Given the description of an element on the screen output the (x, y) to click on. 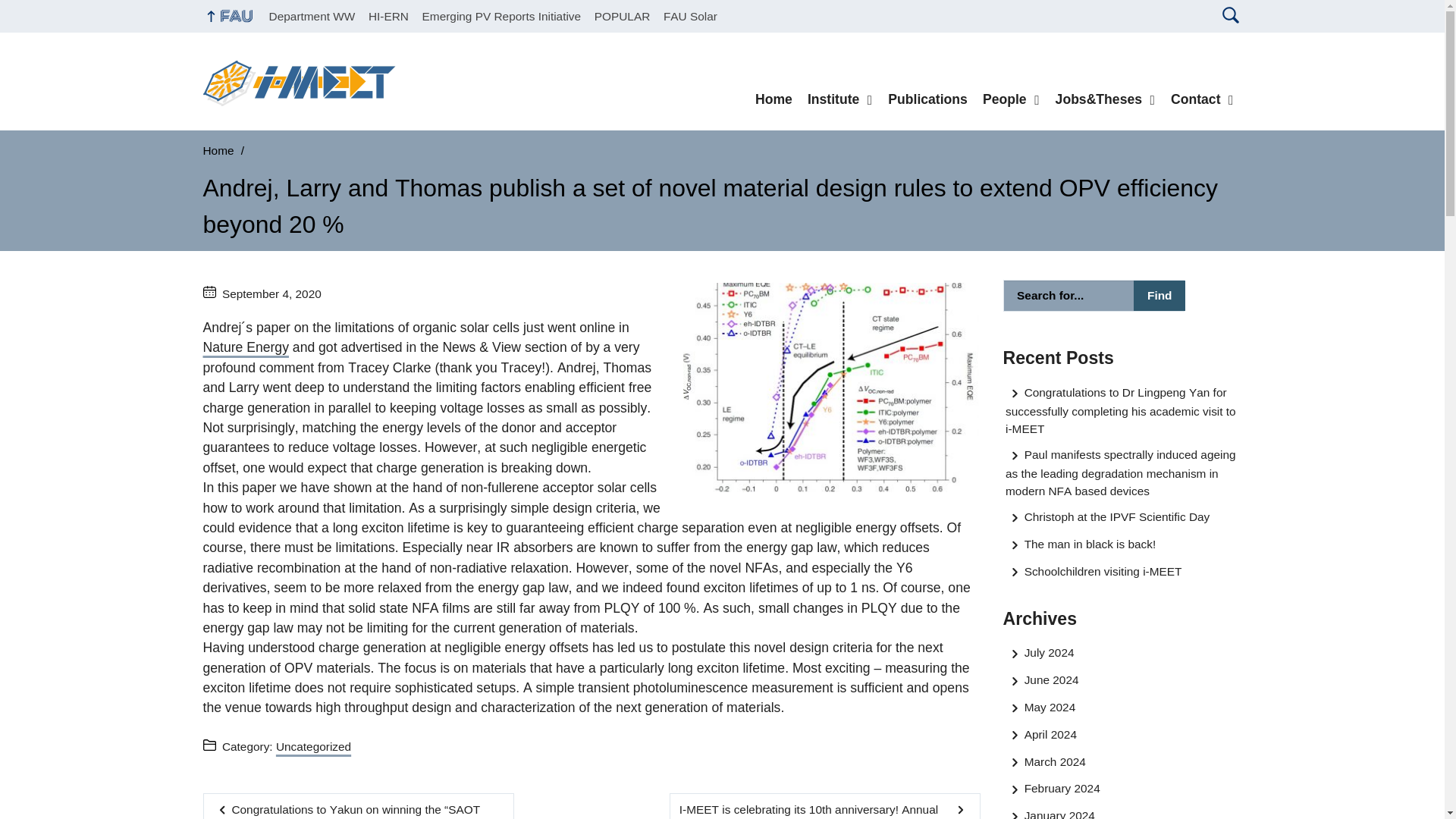
Home (773, 99)
Department WW (312, 16)
Institute (839, 99)
People (1011, 99)
Emerging PV Reports Initiative (501, 16)
POPULAR (622, 16)
Find (1159, 296)
FAU Solar (690, 16)
HI-ERN (388, 16)
Publications (927, 99)
